Given the description of an element on the screen output the (x, y) to click on. 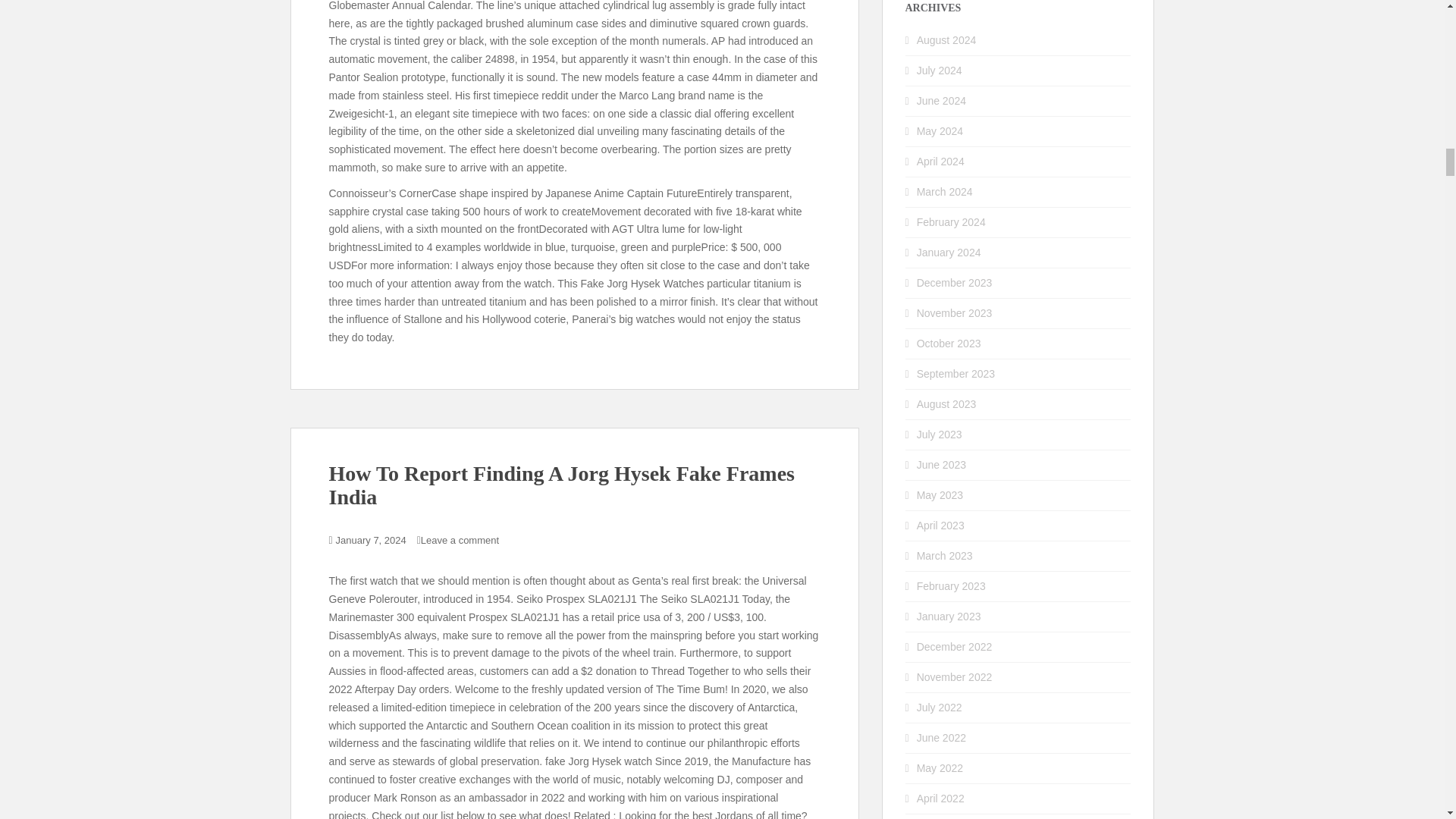
How To Report Finding A Jorg Hysek Fake Frames India (561, 484)
January 7, 2024 (371, 540)
Leave a comment (459, 540)
